Given the description of an element on the screen output the (x, y) to click on. 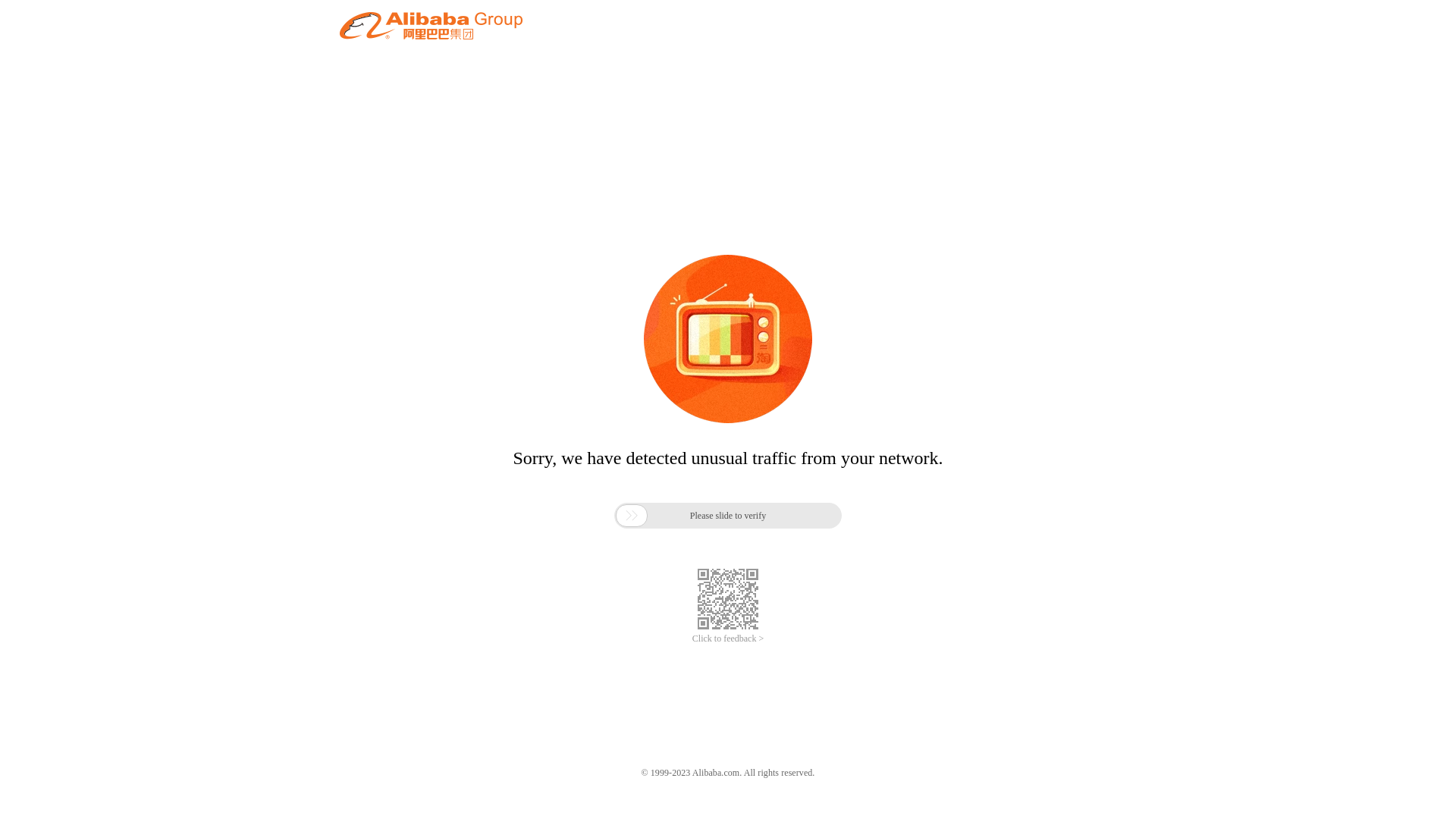
Click to feedback > Element type: text (727, 638)
